Given the description of an element on the screen output the (x, y) to click on. 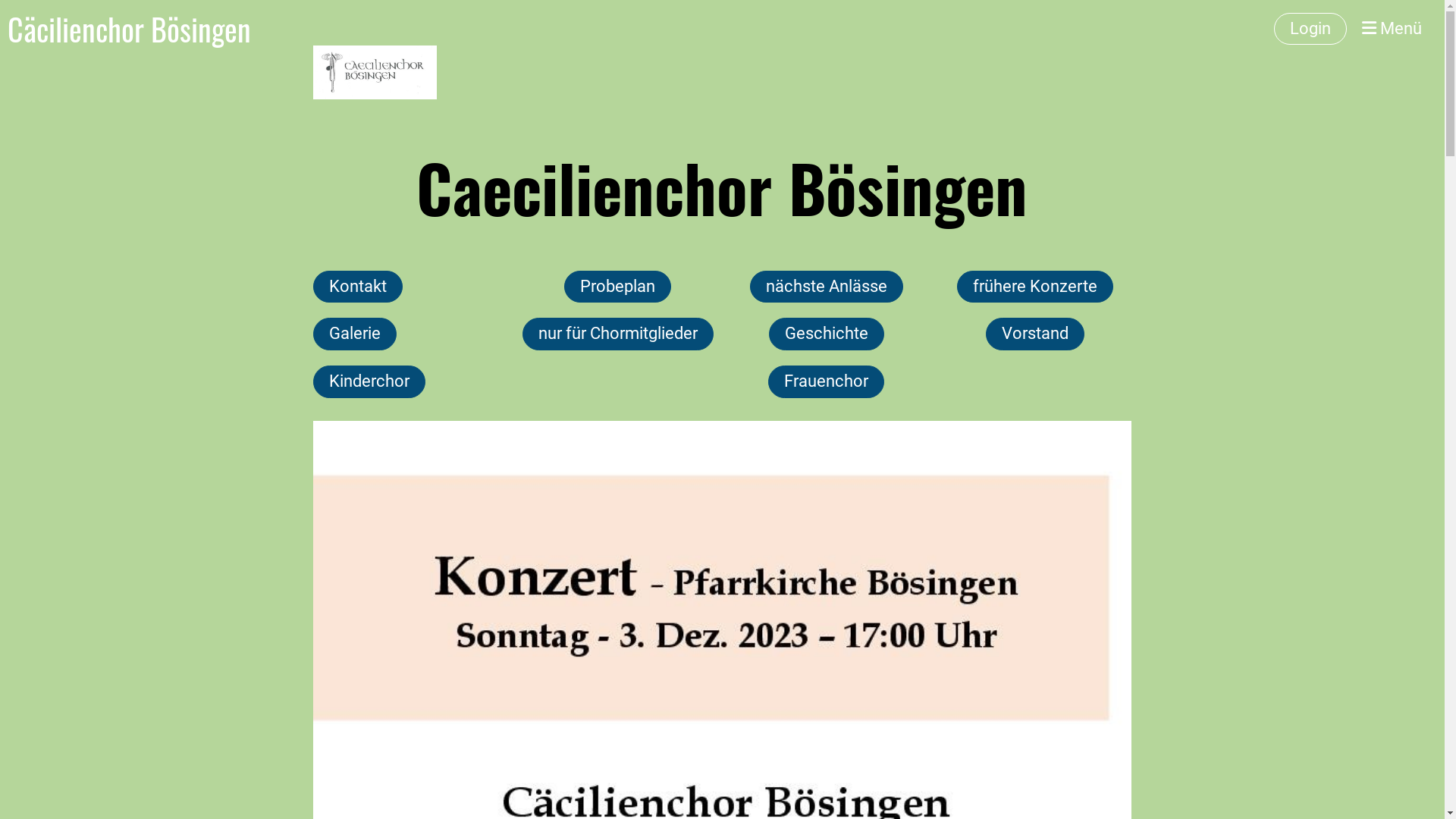
Probeplan Element type: text (617, 286)
Vorstand Element type: text (1034, 333)
Frauenchor Element type: text (826, 381)
Geschichte Element type: text (826, 333)
Galerie Element type: text (353, 333)
Kontakt Element type: text (356, 286)
Login Element type: text (1310, 28)
Kinderchor Element type: text (368, 381)
